Given the description of an element on the screen output the (x, y) to click on. 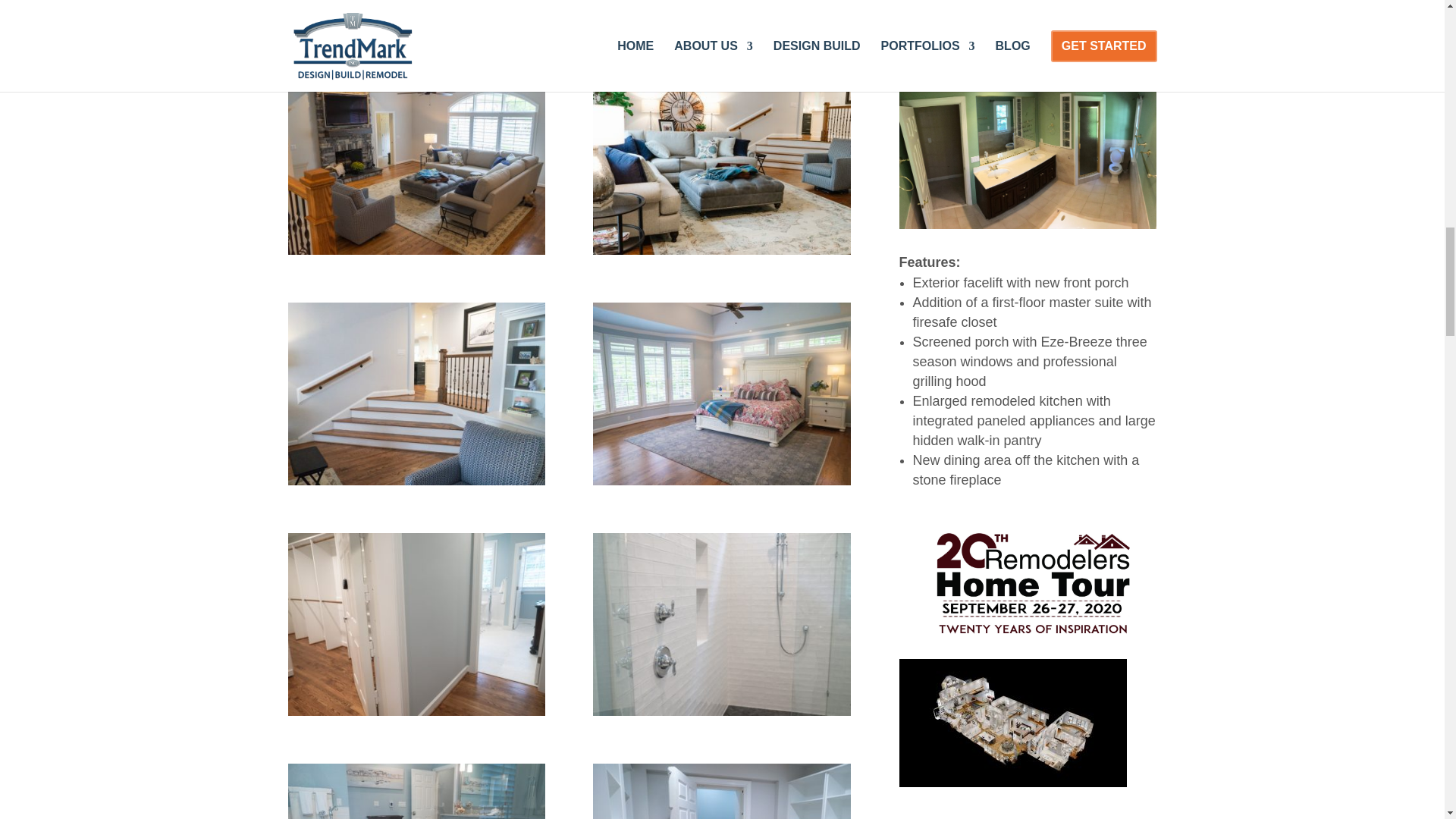
2020 Buckingham Addition-Whole House -49 (417, 249)
2020 Buckingham Addition-Whole House -45 (417, 18)
2020 Buckingham Addition-Whole House -34 (417, 480)
2020 Buckingham Addition-Whole House -50 (721, 249)
2020 Buckingham Addition-Whole House -15 (721, 18)
2020 Buckingham Addition-Whole House -44 (417, 711)
2020 Buckingham Addition-Whole House -20 (721, 480)
2020 Buckingham Addition-Whole House -42 (721, 711)
